Given the description of an element on the screen output the (x, y) to click on. 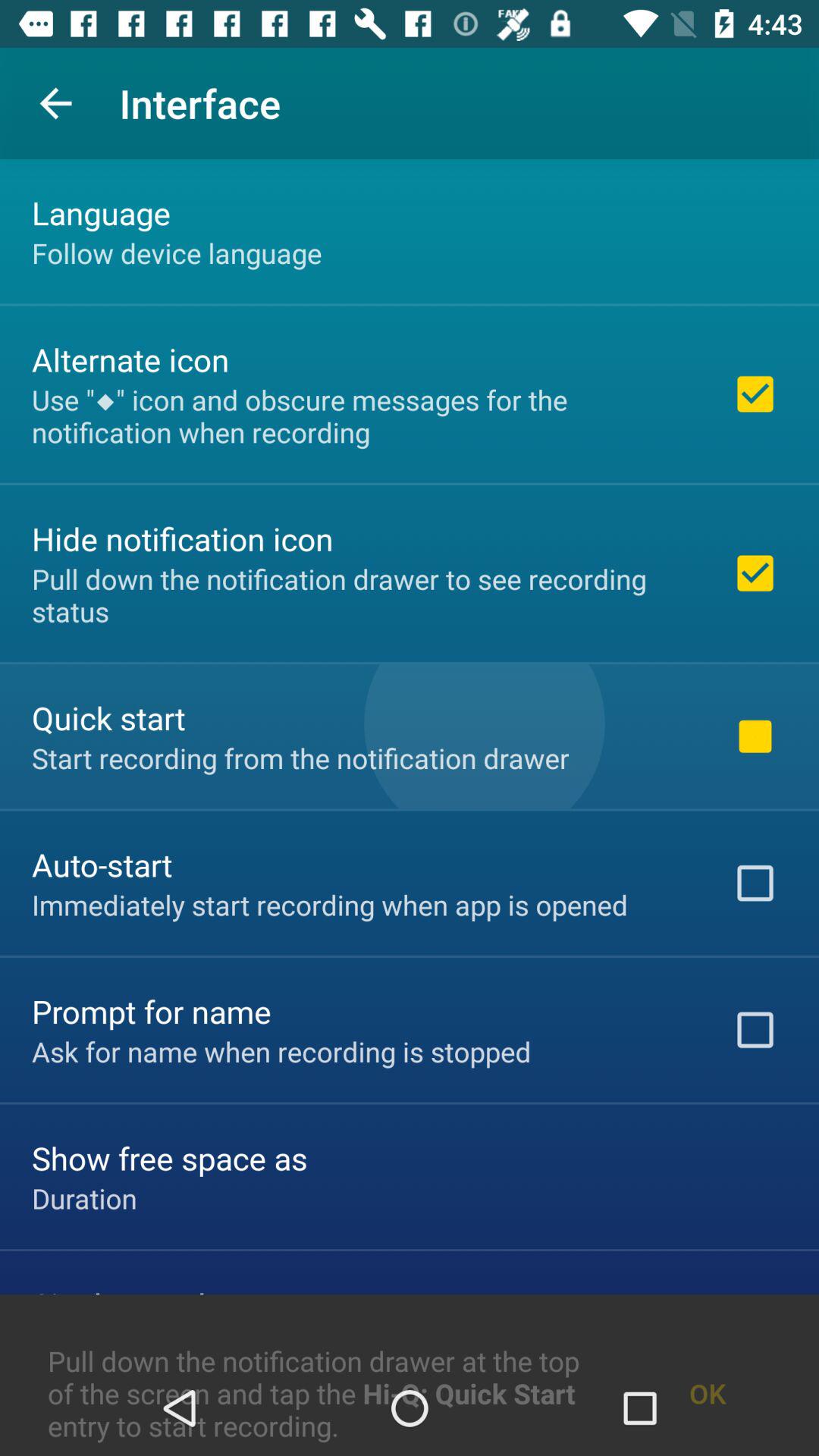
press the item below the ask for name item (169, 1157)
